Given the description of an element on the screen output the (x, y) to click on. 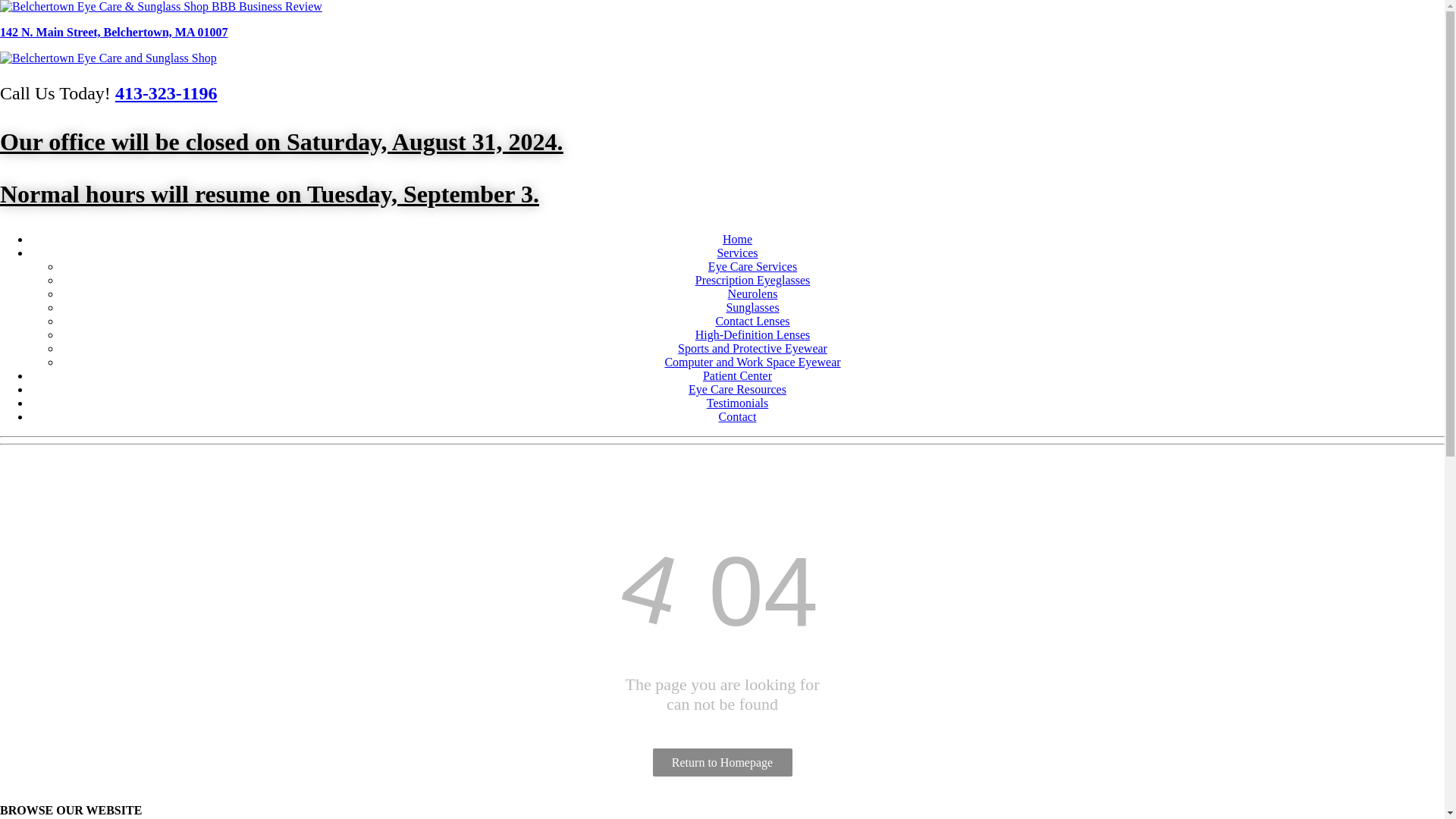
Patient Center (737, 375)
Sunglasses (751, 307)
High-Definition Lenses (752, 334)
Return to Homepage (722, 762)
Contact (738, 416)
142 N. Main Street, Belchertown, MA 01007 (114, 31)
413-323-1196 (165, 93)
Computer and Work Space Eyewear (751, 361)
Eye Care Resources (737, 389)
Services (736, 252)
